Given the description of an element on the screen output the (x, y) to click on. 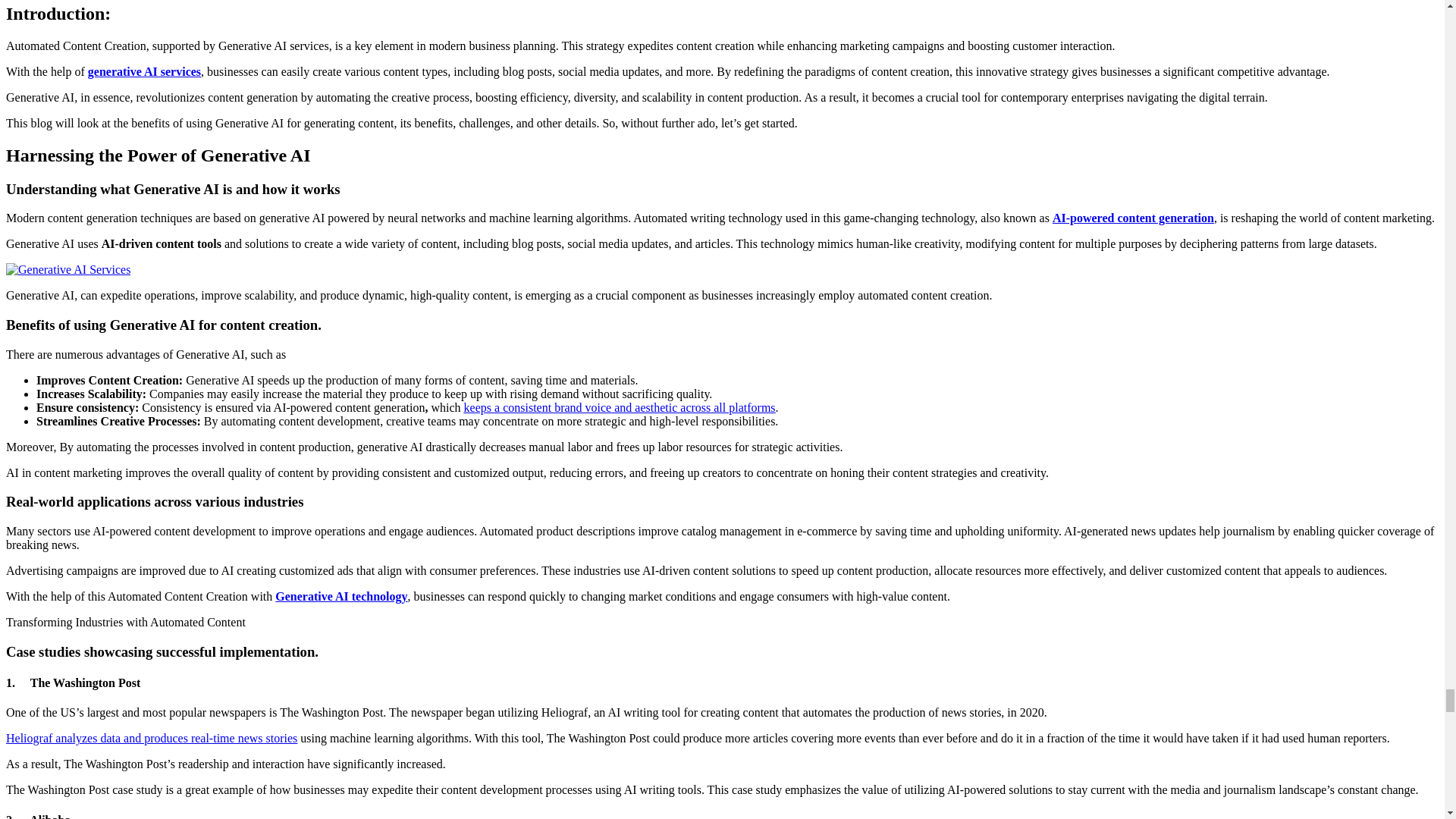
Generative AI Services (68, 269)
